Given the description of an element on the screen output the (x, y) to click on. 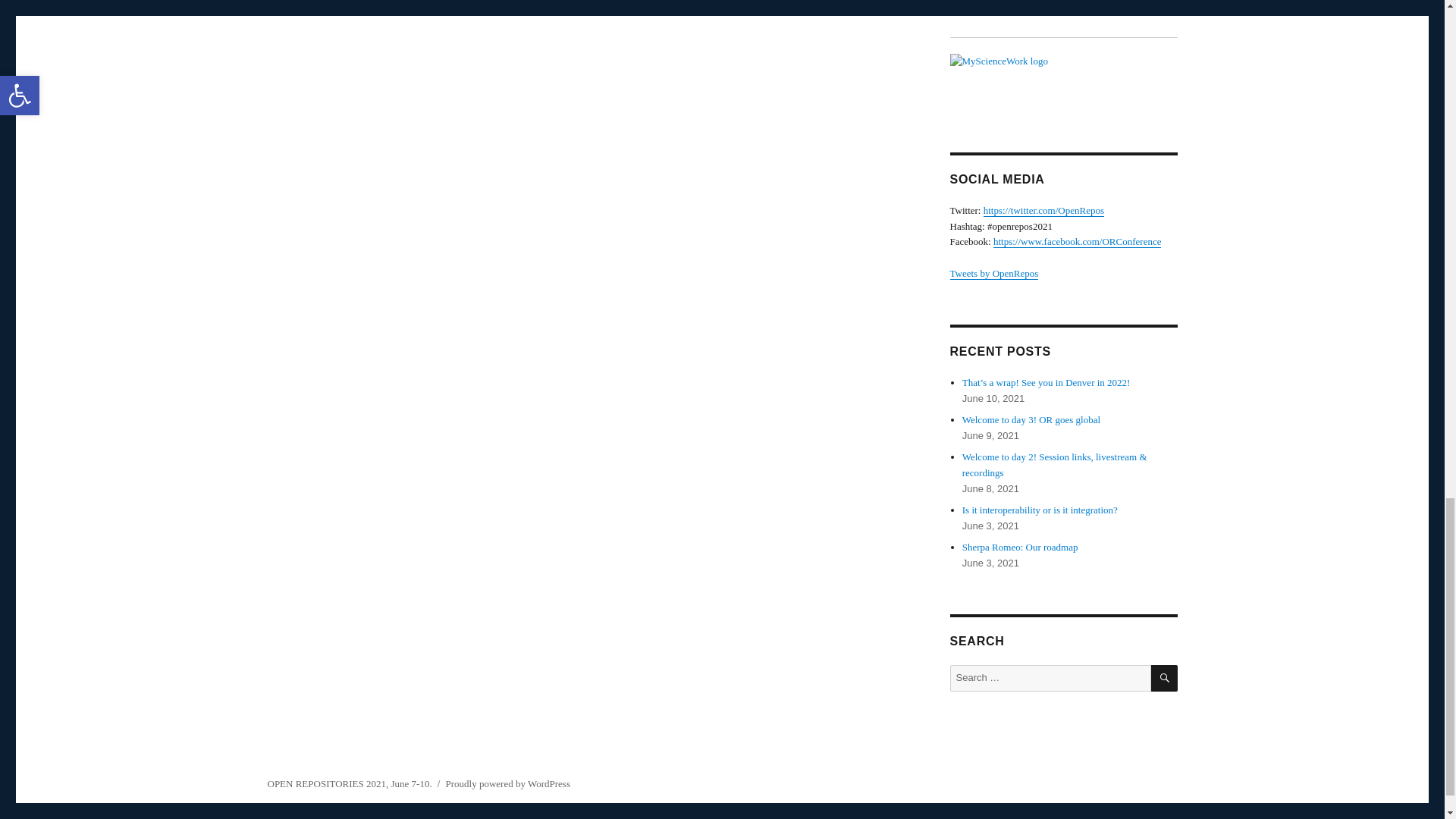
Welcome to day 3! OR goes global (1031, 419)
Sherpa Romeo: Our roadmap (1020, 546)
Tweets by OpenRepos (993, 273)
Is it interoperability or is it integration? (1040, 509)
SEARCH (1164, 678)
